Given the description of an element on the screen output the (x, y) to click on. 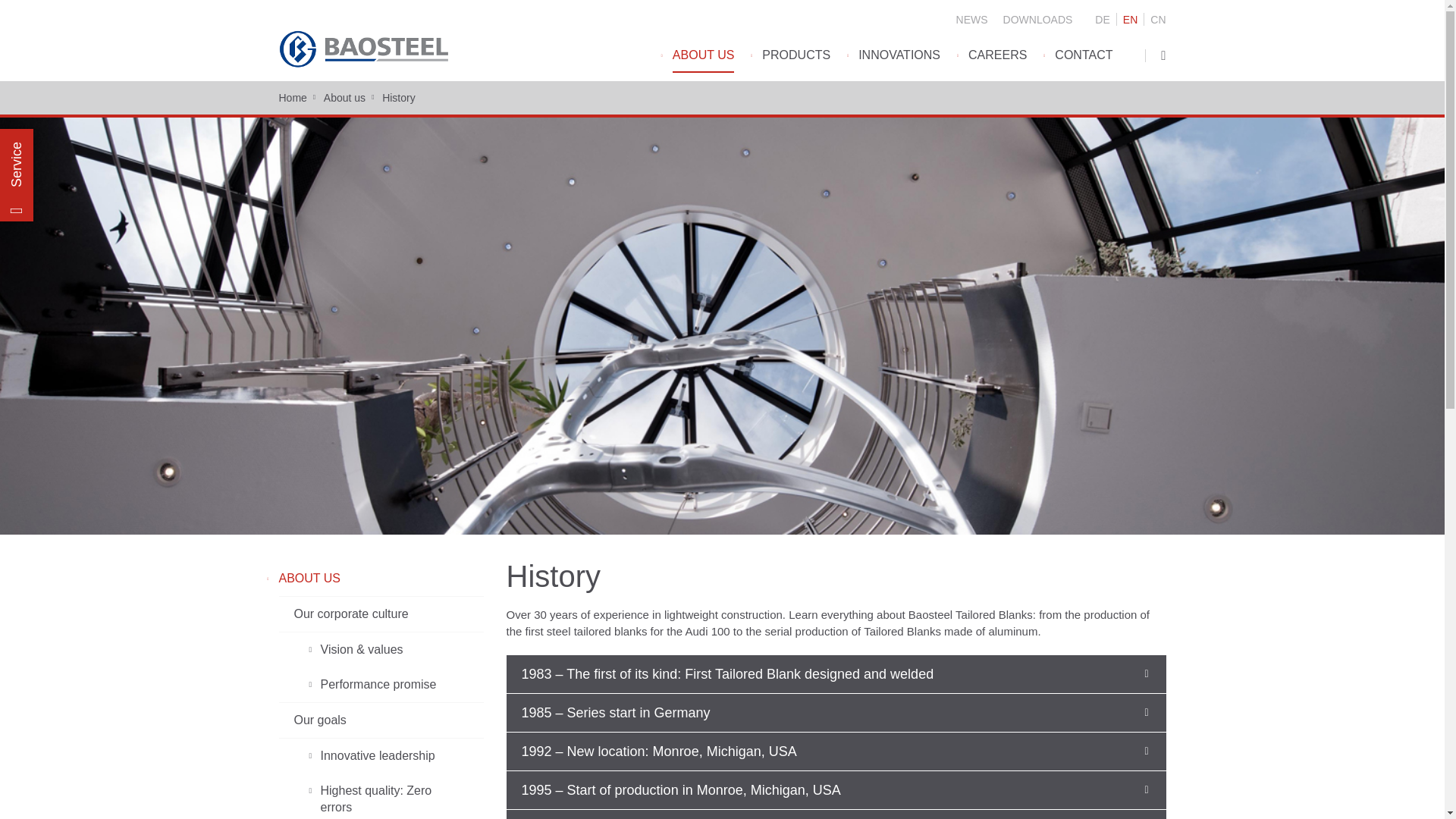
Home (363, 63)
PRODUCTS (795, 65)
CN (1158, 19)
DOWNLOADS (1038, 19)
DE (1101, 19)
ABOUT US (703, 65)
NEWS (972, 19)
EN (1129, 19)
